Given the description of an element on the screen output the (x, y) to click on. 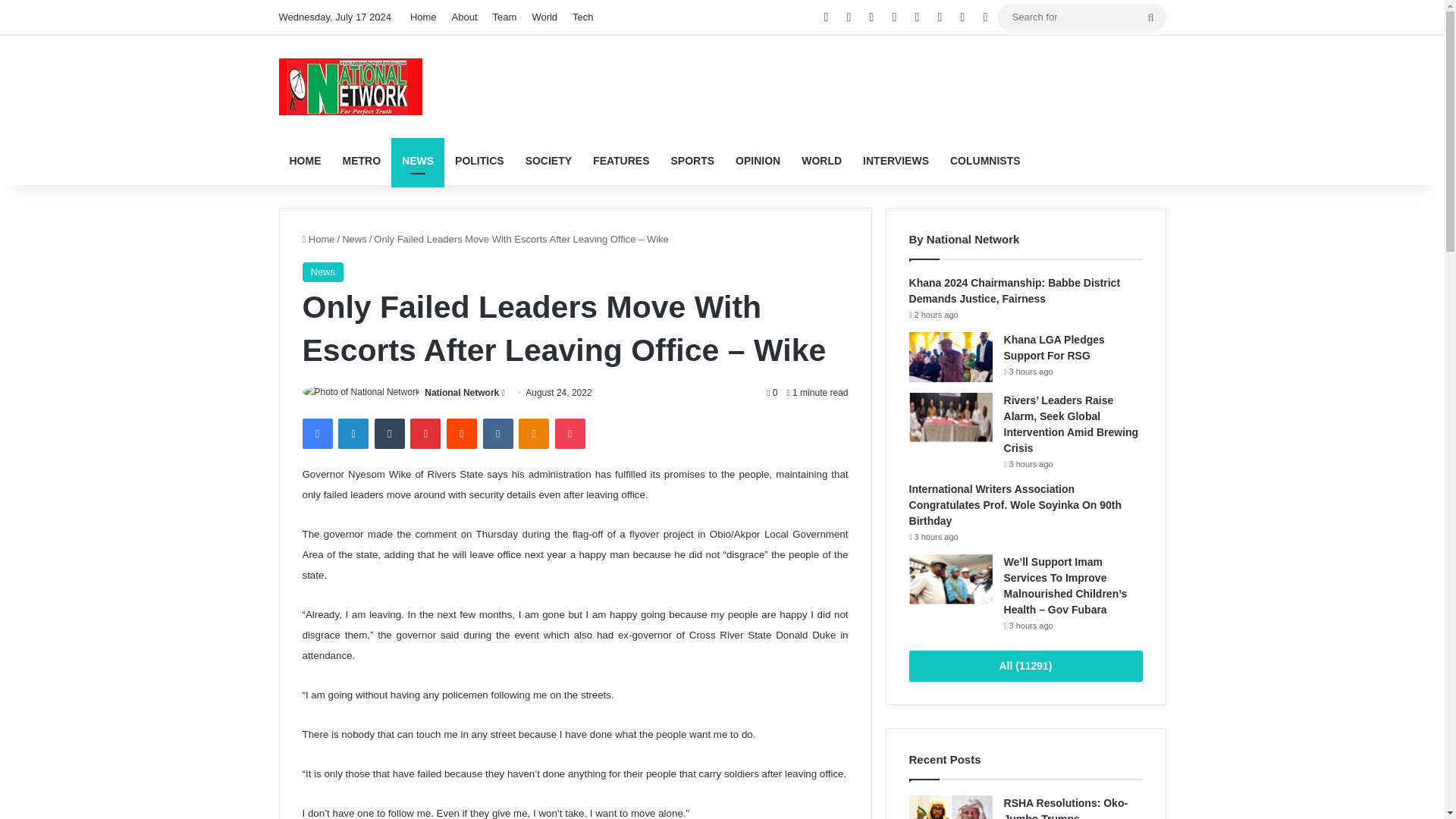
Pinterest (425, 433)
INTERVIEWS (895, 160)
OPINION (757, 160)
Team (504, 17)
Tech (581, 17)
Facebook (316, 433)
News (322, 271)
Facebook (316, 433)
FEATURES (620, 160)
About (464, 17)
National Network (462, 392)
LinkedIn (352, 433)
Home (423, 17)
Search for (1080, 16)
National Network (462, 392)
